Given the description of an element on the screen output the (x, y) to click on. 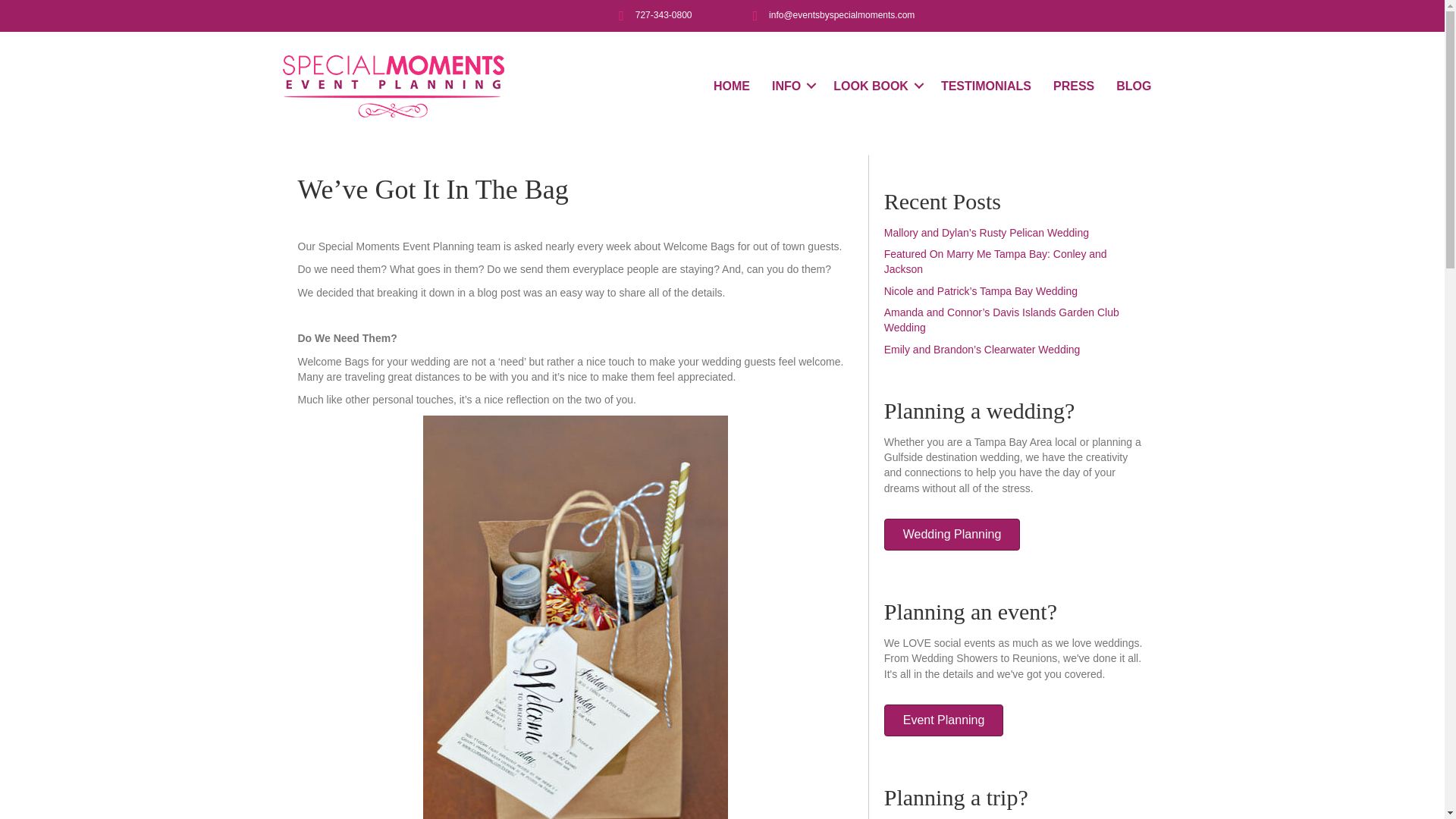
LOOK BOOK (876, 85)
Special-Moments-Event-Planning-logo (392, 85)
727-343-0800 (663, 15)
TESTIMONIALS (986, 85)
HOME (731, 85)
PRESS (1073, 85)
BLOG (1133, 85)
Event Planning (943, 720)
Featured On Marry Me Tampa Bay: Conley and Jackson (994, 261)
INFO (791, 85)
Wedding Planning (951, 534)
